Given the description of an element on the screen output the (x, y) to click on. 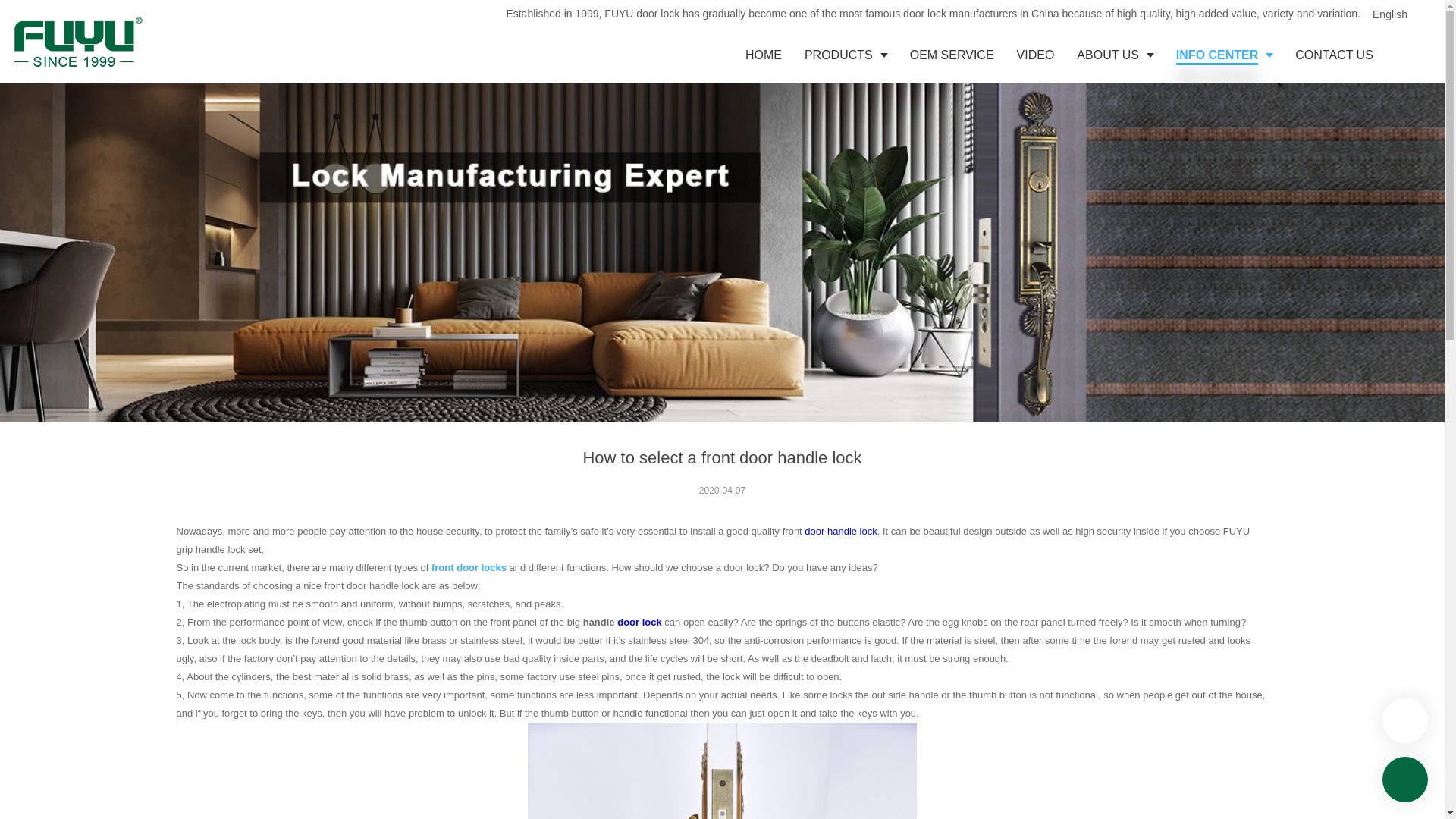
HOME (763, 55)
PRODUCTS (845, 55)
CONTACT US (1334, 55)
front door locks (468, 567)
door handle lock (840, 531)
door lock (639, 622)
ABOUT US (1114, 55)
OEM SERVICE (952, 55)
VIDEO (1035, 55)
INFO CENTER (1224, 55)
